Given the description of an element on the screen output the (x, y) to click on. 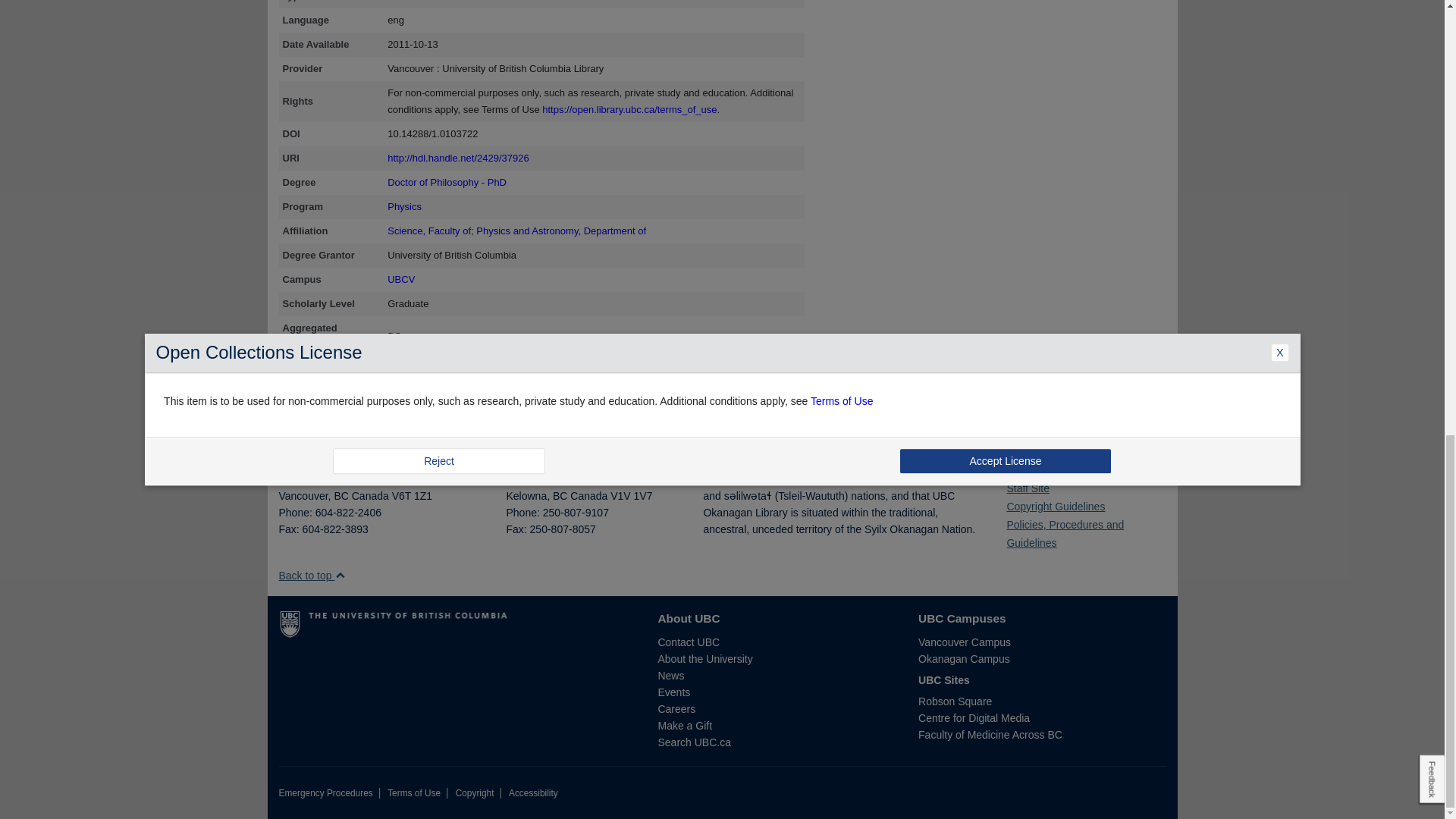
Facebook icon (1010, 466)
British Columbia (340, 495)
Instagram icon (1031, 466)
British Columbia (560, 495)
Youtube icon (1041, 466)
Twitter icon (1021, 466)
